Given the description of an element on the screen output the (x, y) to click on. 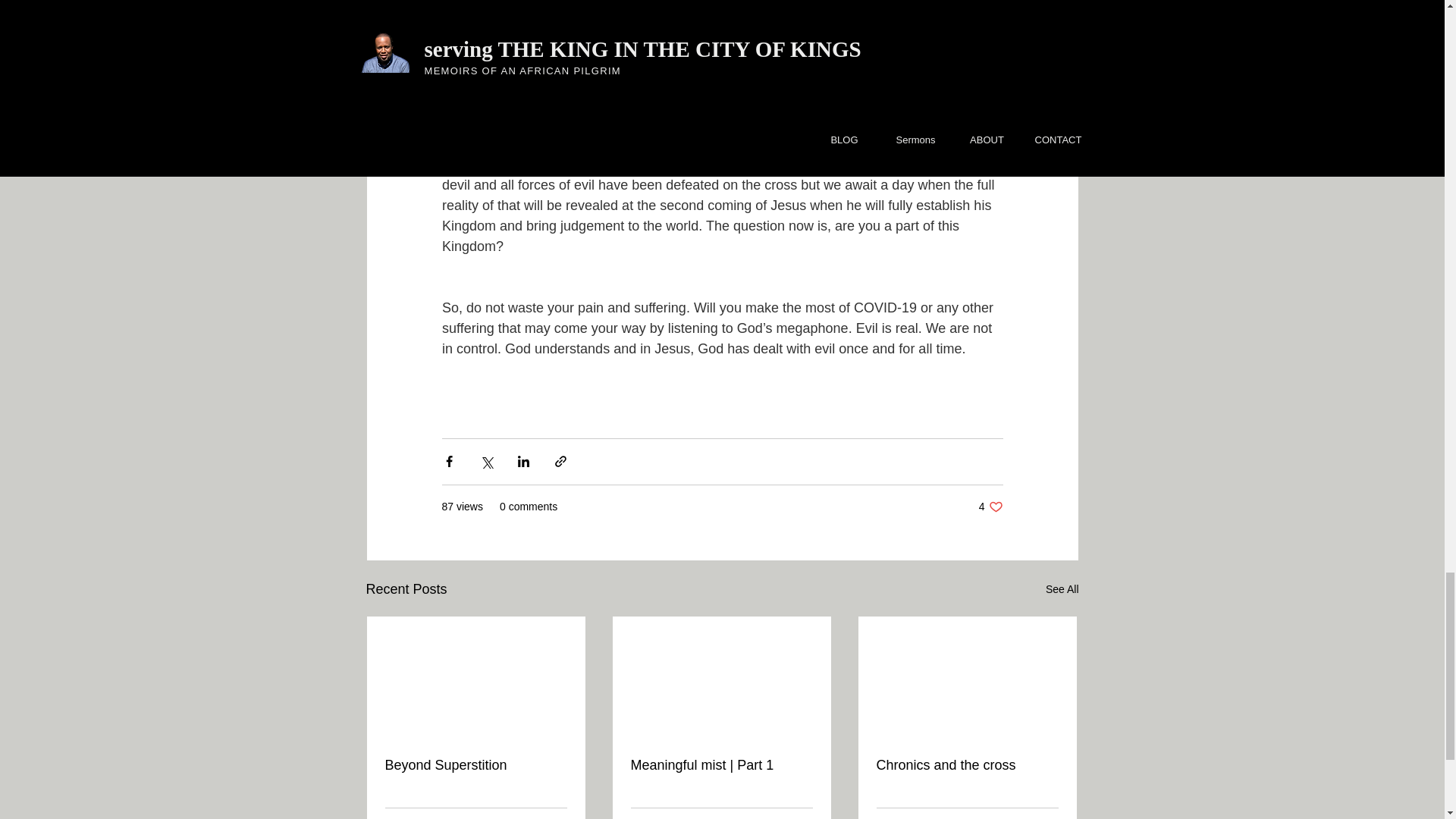
Beyond Superstition (476, 765)
See All (1061, 589)
Chronics and the cross (967, 765)
